Given the description of an element on the screen output the (x, y) to click on. 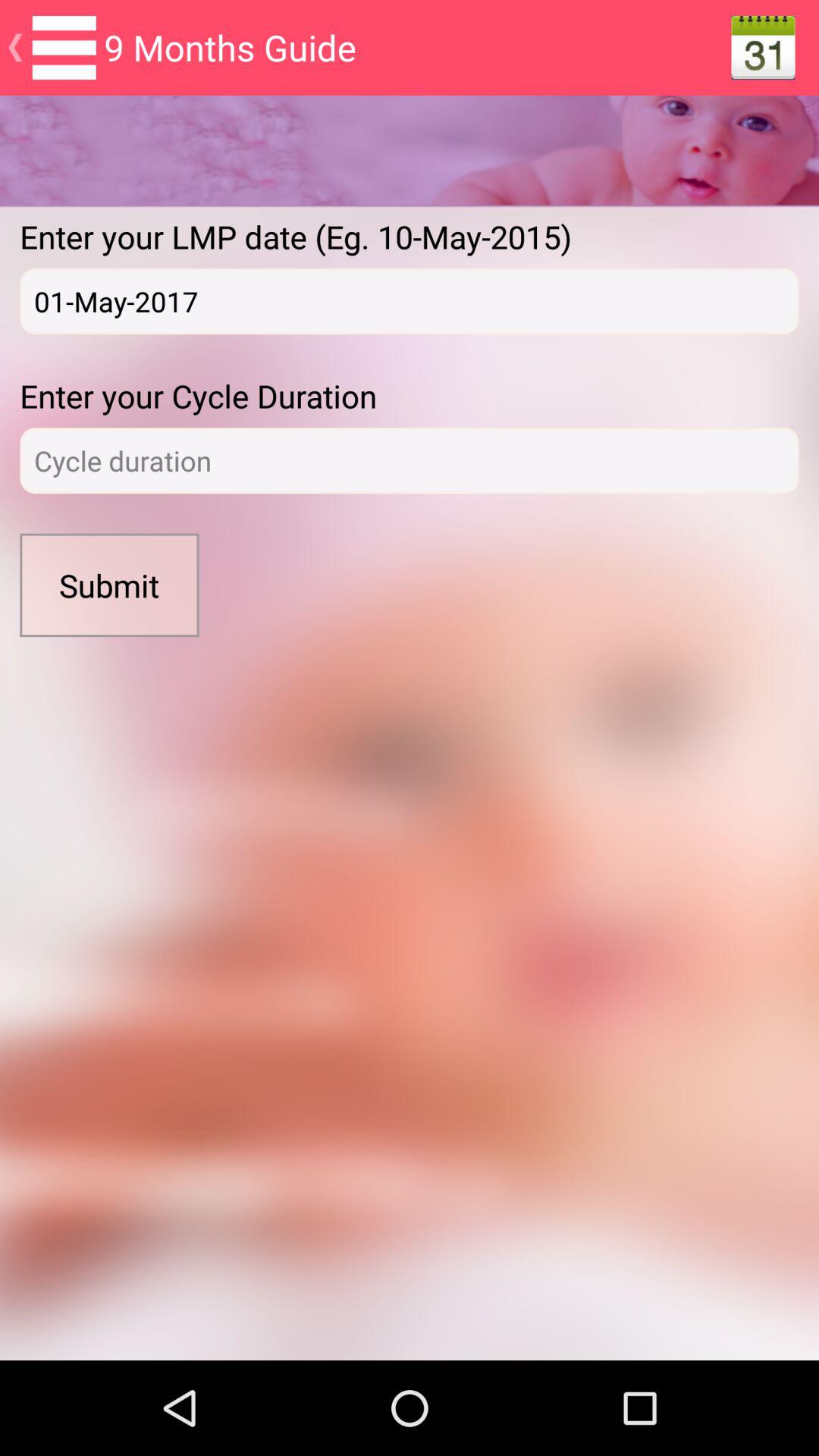
login page (409, 460)
